Given the description of an element on the screen output the (x, y) to click on. 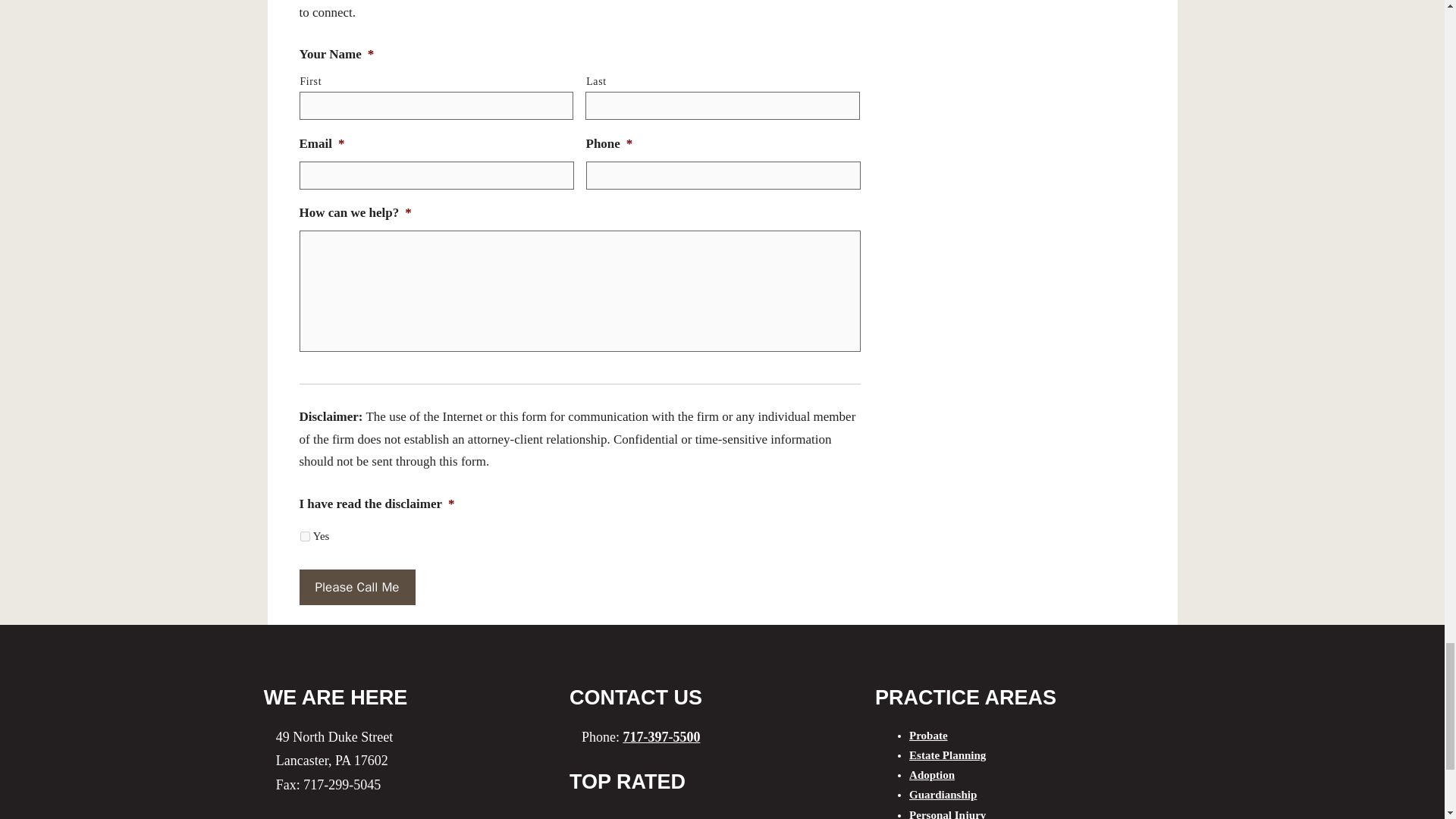
Please Call Me (356, 587)
Yes (304, 536)
Please Call Me (356, 587)
